Given the description of an element on the screen output the (x, y) to click on. 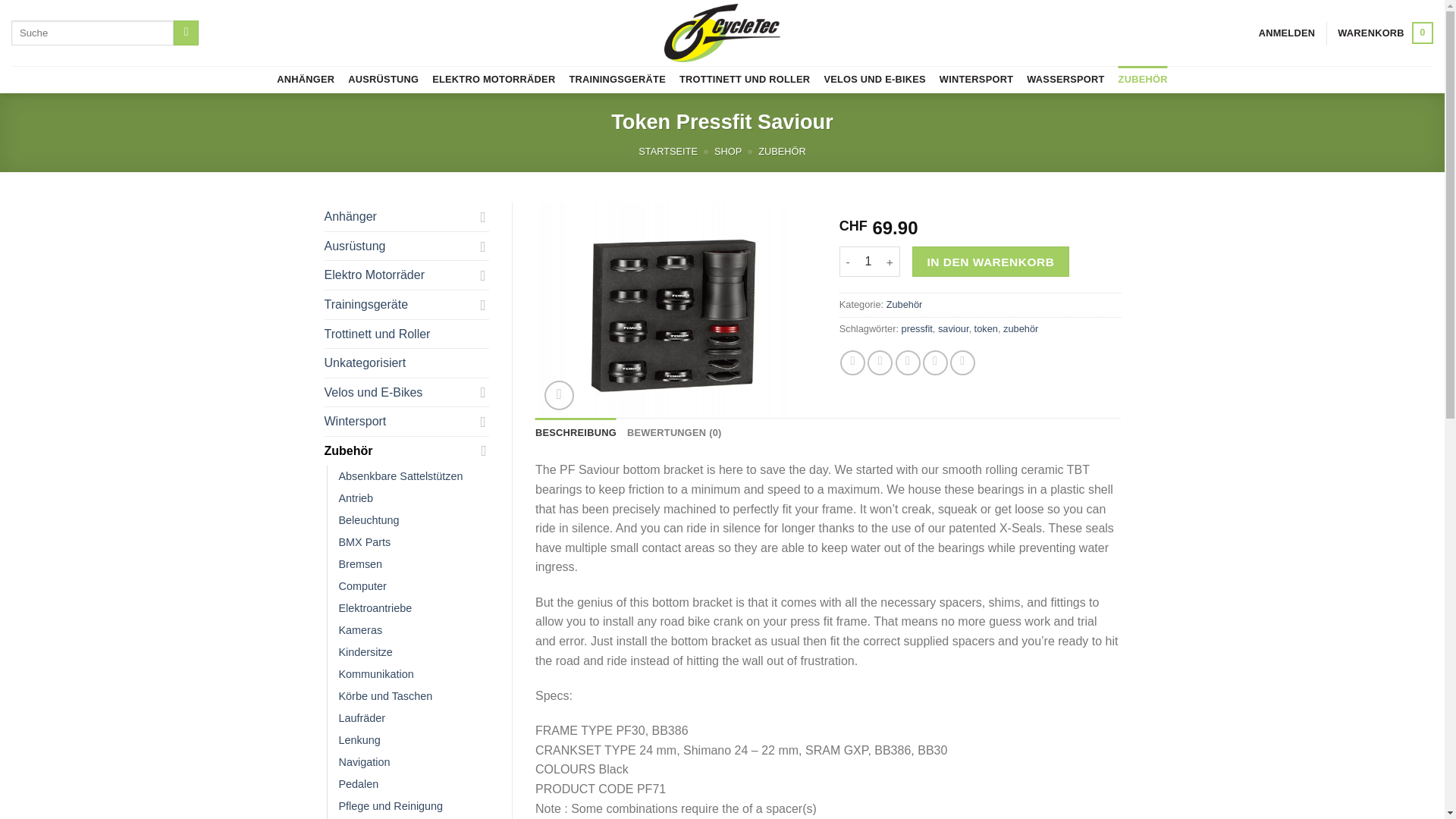
Zoom (558, 395)
Suche (185, 32)
Warenkorb (1385, 33)
Anmelden (1287, 32)
WASSERSPORT (1064, 79)
VELOS UND E-BIKES (874, 79)
Auf Facebook teilen (852, 362)
SHOP (727, 151)
Auf Twitter teilen (879, 362)
Auf LinkedIn teilen (1385, 33)
STARTSEITE (962, 362)
E-mail an einen Freund senden (668, 151)
Pinterest Pin erstellen (907, 362)
ANMELDEN (935, 362)
